Given the description of an element on the screen output the (x, y) to click on. 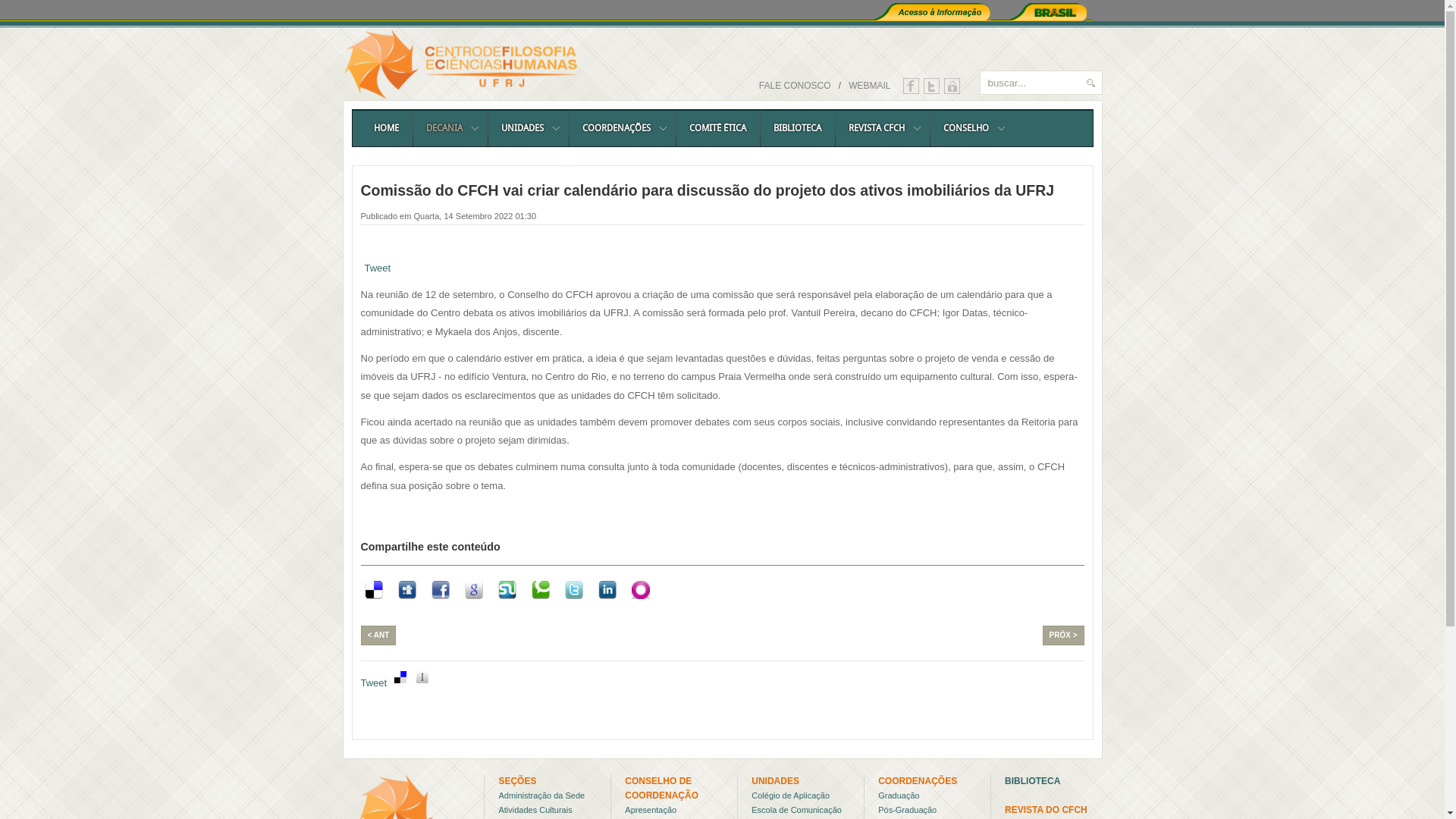
Atividades Culturais Element type: text (534, 809)
BIBLIOTECA Element type: text (1032, 780)
Tweet Element type: text (373, 683)
< ANT Element type: text (378, 635)
Save this for later with Instapaper Element type: hover (425, 676)
Entrar Element type: text (472, 190)
HOME Element type: text (385, 127)
UNIDADES Element type: text (526, 127)
Tweet Element type: text (377, 267)
FALE CONOSCO Element type: text (791, 85)
DECANIA Element type: text (449, 127)
BIBLIOTECA Element type: text (796, 127)
WEBMAIL Element type: text (865, 85)
REVISTA CFCH Element type: text (881, 127)
Portal de Estado do Brasil Element type: hover (1048, 10)
Compatilhe no Orkut Element type: hover (640, 589)
CONSELHO Element type: text (971, 127)
Bookmark this on Delicious Element type: hover (403, 676)
